Given the description of an element on the screen output the (x, y) to click on. 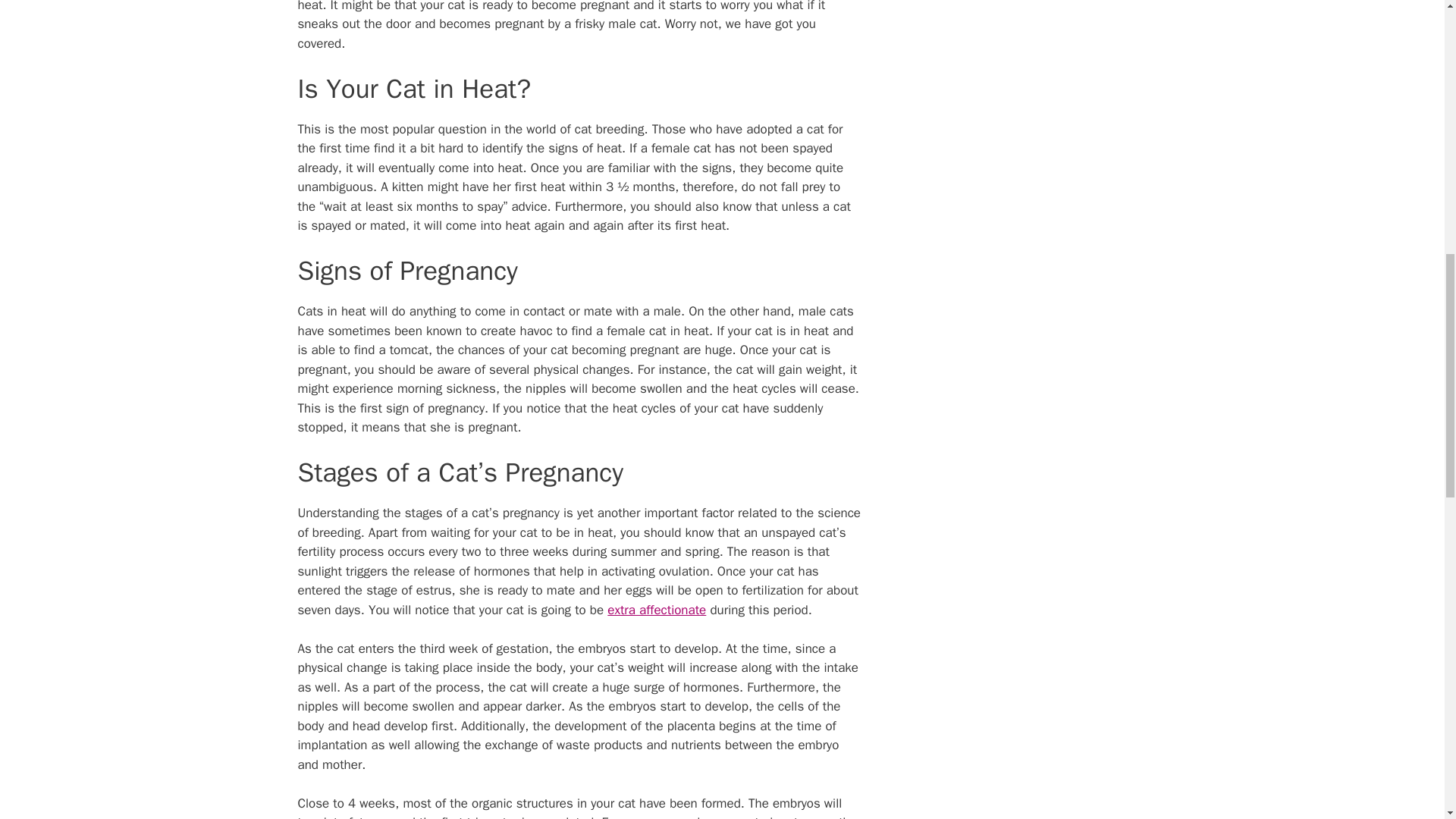
extra affectionate (656, 609)
